Given the description of an element on the screen output the (x, y) to click on. 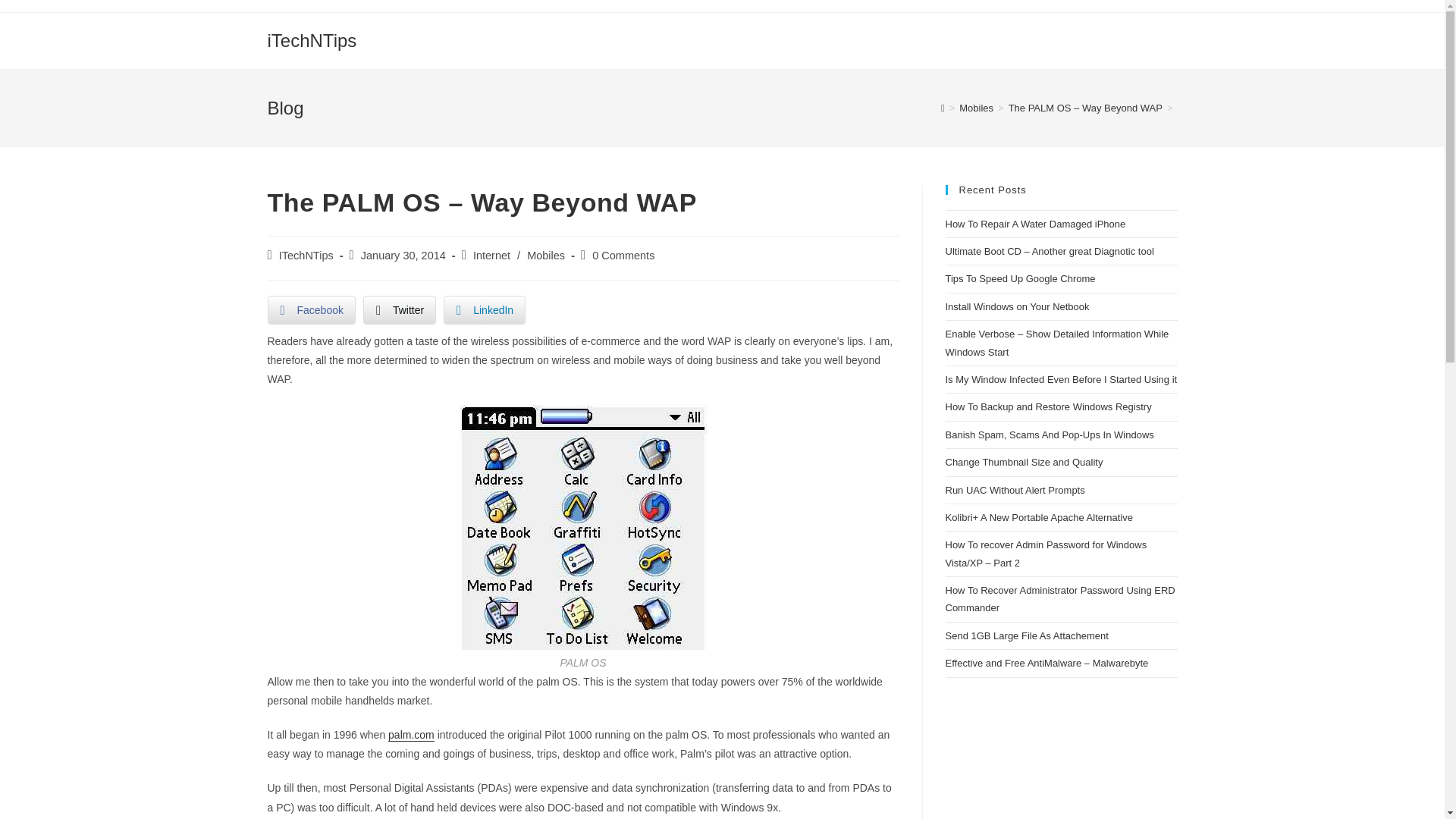
Banish Spam, Scams And Pop-Ups In Windows (1048, 434)
Facebook (310, 309)
Mobiles (975, 107)
Install Windows on Your Netbook (1016, 306)
Twitter (398, 309)
Mobiles (545, 255)
Run UAC Without Alert Prompts (1014, 489)
Posts by ITechNTips (306, 255)
Is My Window Infected Even Before I Started Using it (1060, 378)
LinkedIn (484, 309)
